Given the description of an element on the screen output the (x, y) to click on. 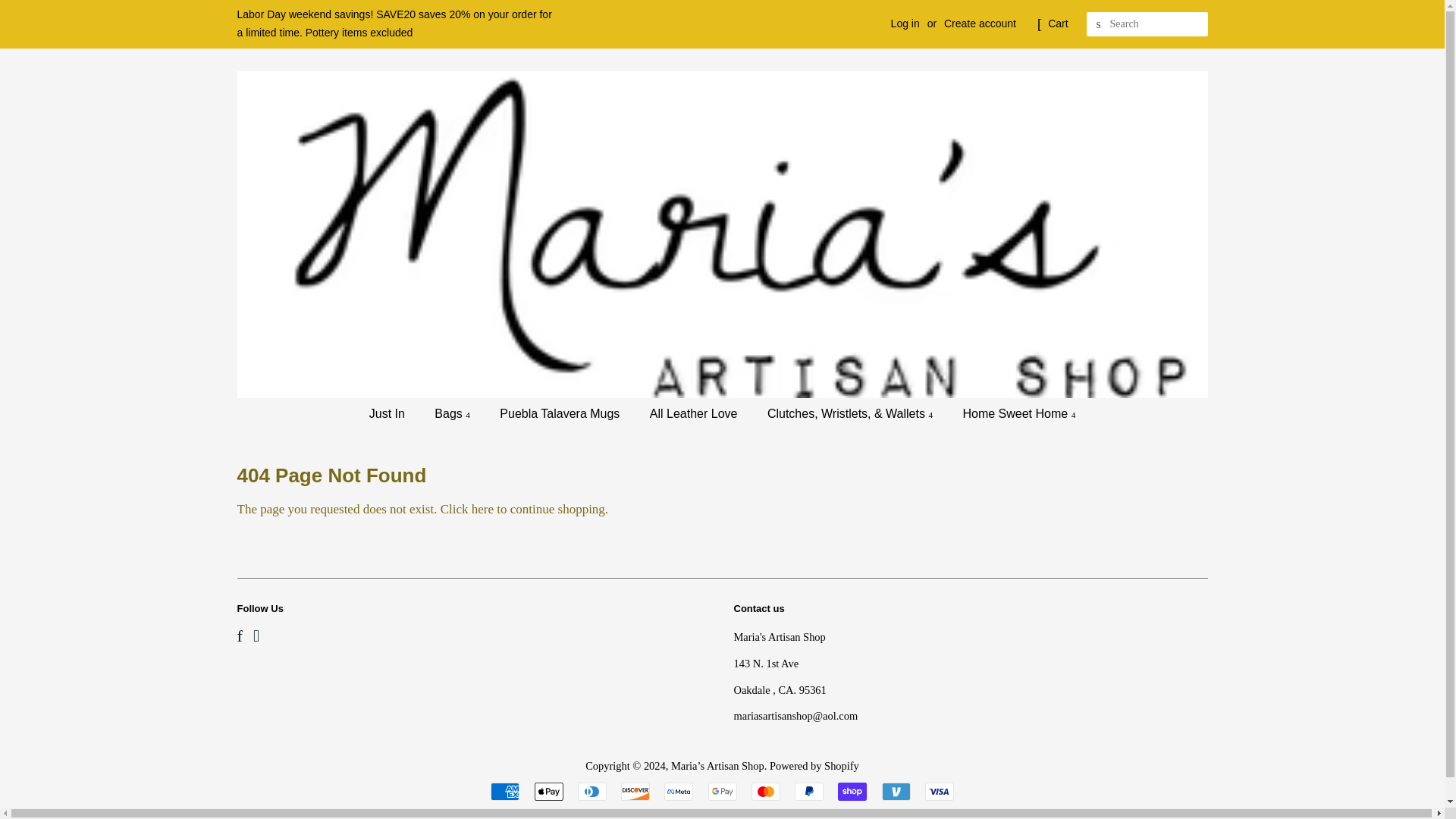
American Express (504, 791)
Create account (979, 23)
Shop Pay (852, 791)
Visa (938, 791)
PayPal (809, 791)
Discover (635, 791)
Apple Pay (548, 791)
Meta Pay (678, 791)
Search (1097, 24)
Log in (905, 23)
